Given the description of an element on the screen output the (x, y) to click on. 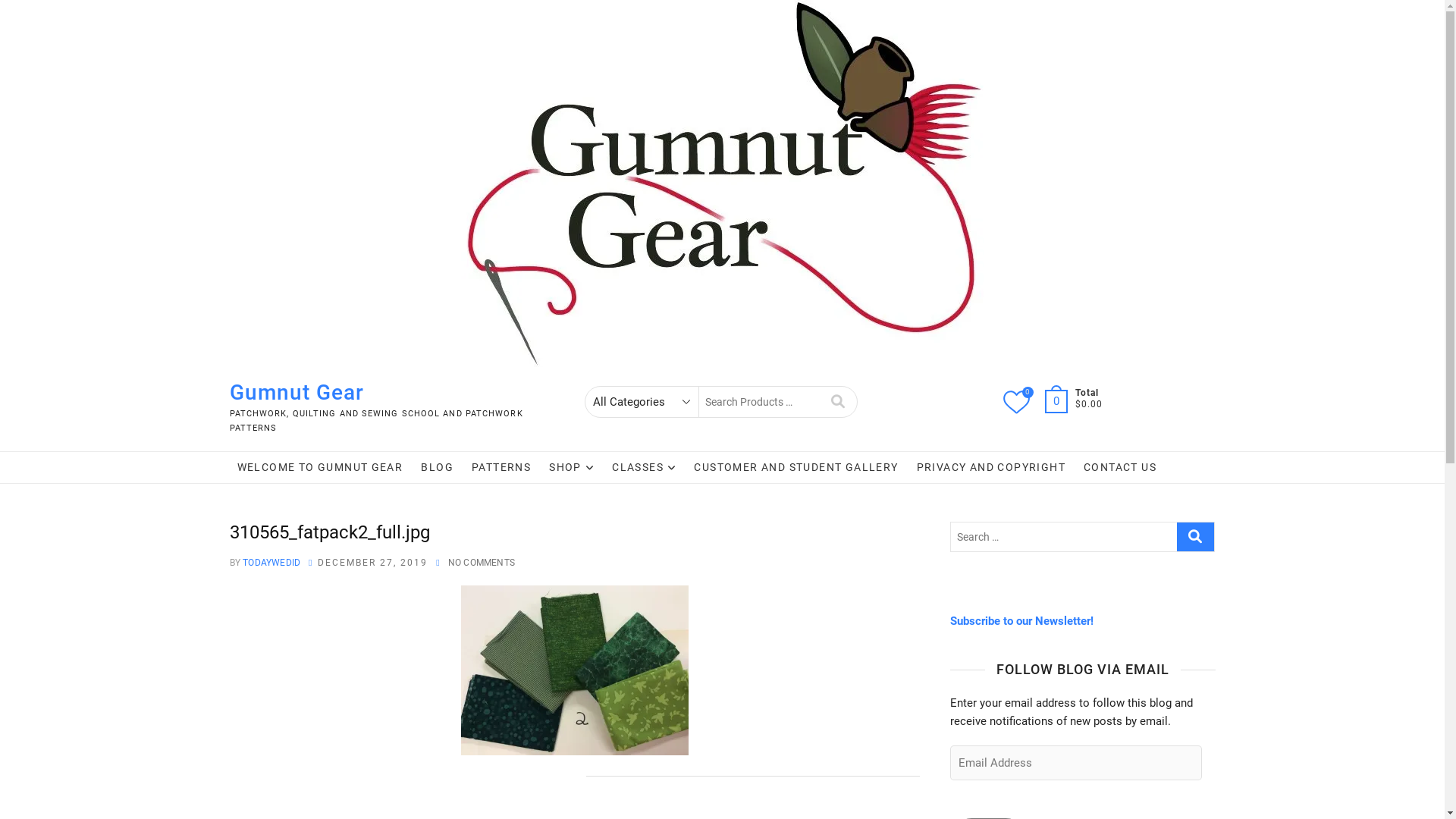
0 Element type: text (1016, 403)
CLASSES Element type: text (643, 467)
WELCOME TO GUMNUT GEAR Element type: text (319, 466)
PRIVACY AND COPYRIGHT Element type: text (991, 466)
DECEMBER 27, 2019 Element type: text (372, 562)
Search Element type: text (837, 401)
0 Element type: text (1058, 401)
BLOG Element type: text (437, 466)
CONTACT US Element type: text (1120, 466)
Gumnut Gear Element type: text (393, 392)
NO COMMENTS Element type: text (481, 562)
SHOP Element type: text (571, 467)
CUSTOMER AND STUDENT GALLERY Element type: text (795, 466)
TODAYWEDID Element type: text (270, 562)
PATTERNS Element type: text (501, 466)
Subscribe to our Newsletter! Element type: text (1020, 620)
